Given the description of an element on the screen output the (x, y) to click on. 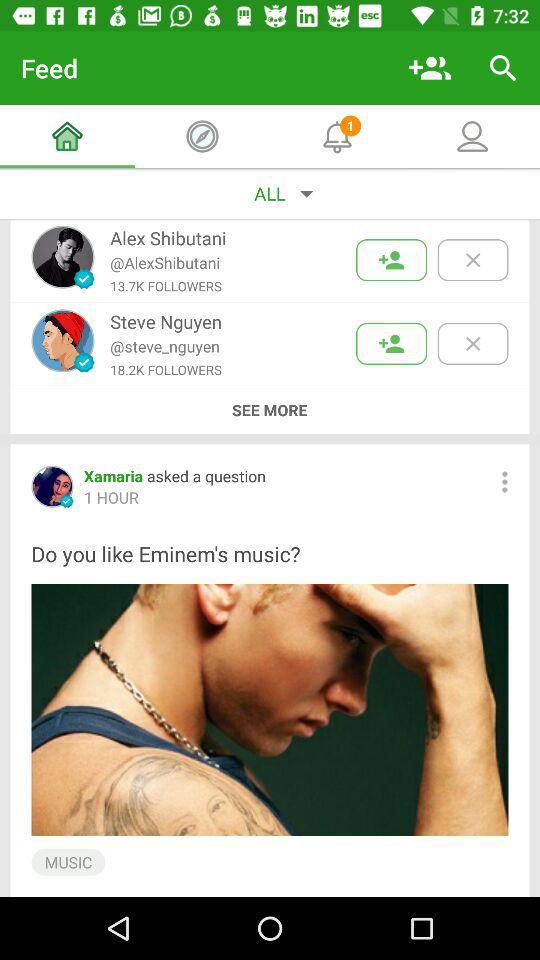
follow user (391, 260)
